Given the description of an element on the screen output the (x, y) to click on. 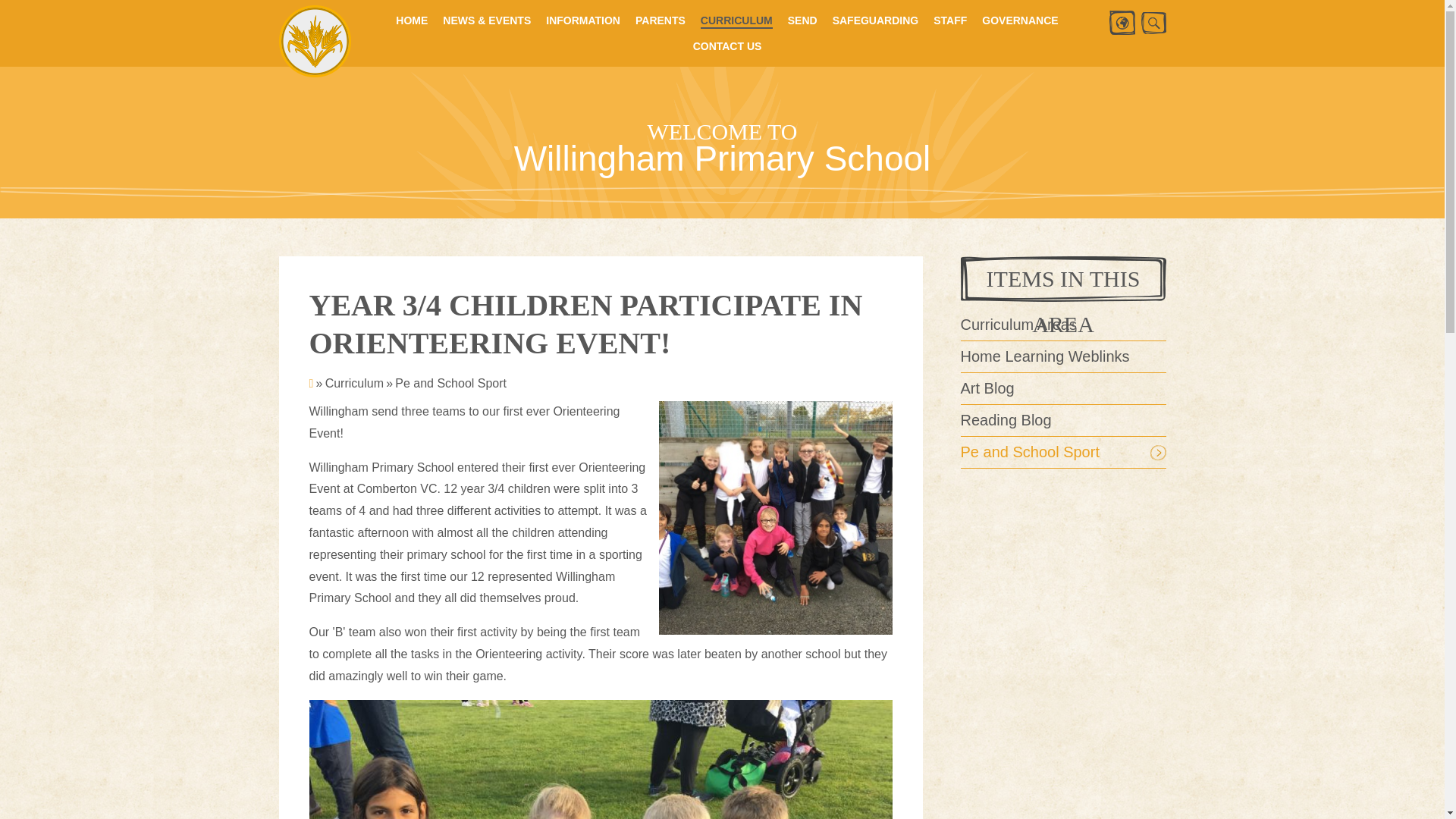
Translate (1121, 22)
Search (1153, 23)
INFORMATION (582, 20)
HOME (411, 20)
